Given the description of an element on the screen output the (x, y) to click on. 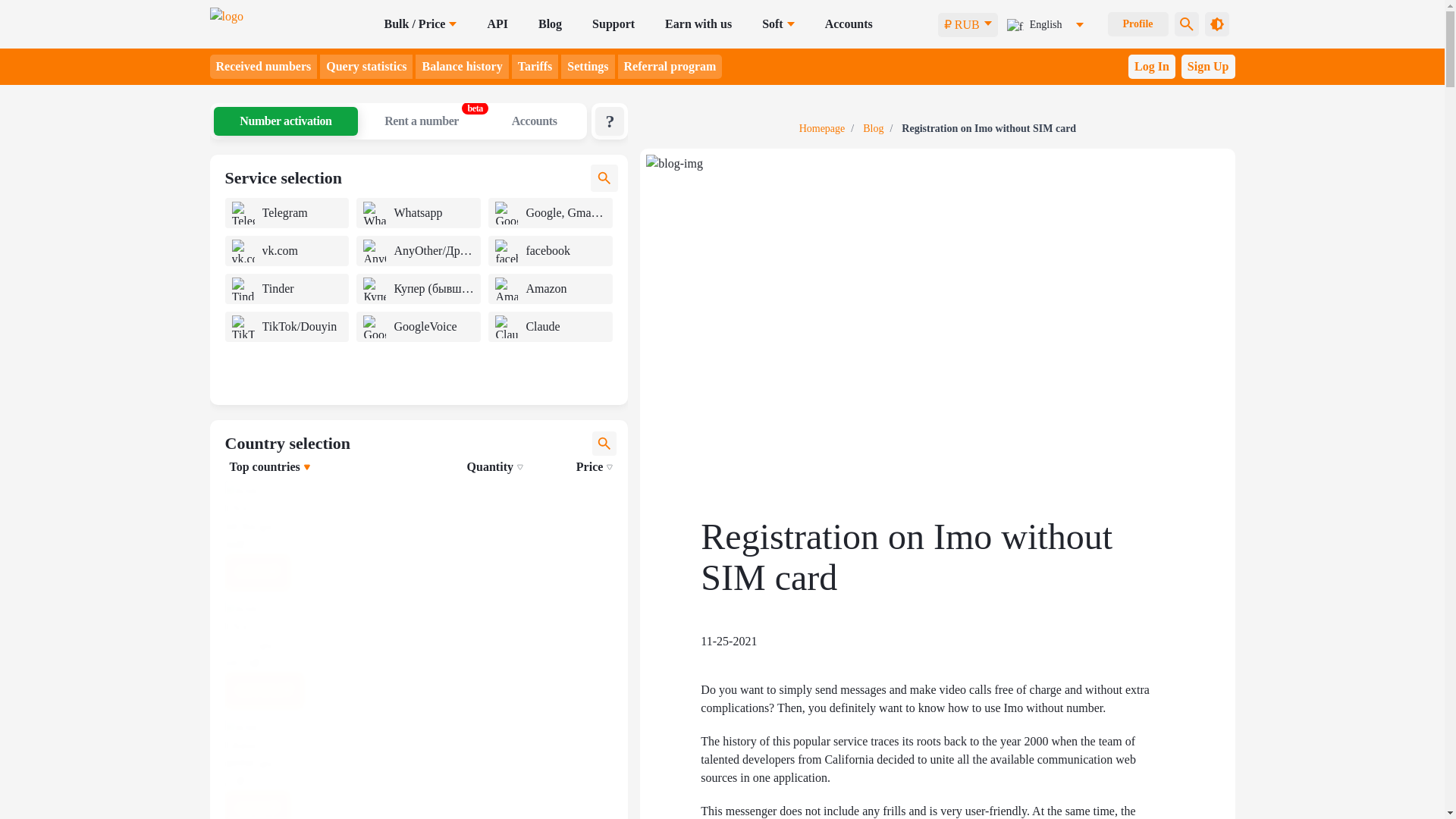
Balance history (461, 66)
Profile (1136, 24)
Accounts (848, 23)
vk.com (242, 250)
Received numbers (263, 66)
Support (613, 23)
Amazon (506, 288)
English (1040, 24)
Whatsapp (373, 212)
Claude (506, 326)
Query statistics (366, 66)
Tariffs (535, 66)
Sign Up (1207, 66)
Telegram (242, 212)
Settings (587, 66)
